Given the description of an element on the screen output the (x, y) to click on. 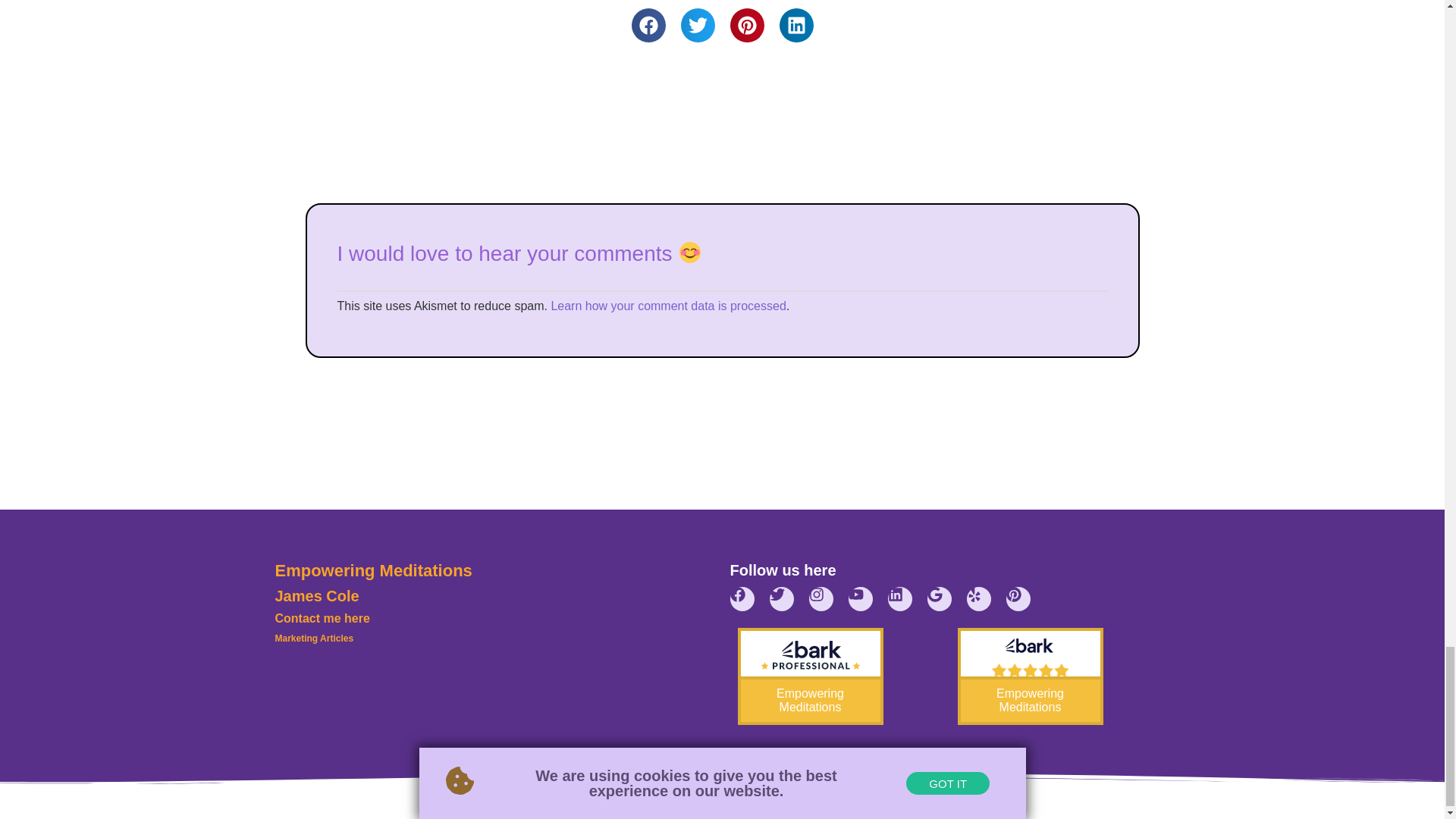
Empowering Meditations has 3 reviews on Bark.com (1029, 676)
